Given the description of an element on the screen output the (x, y) to click on. 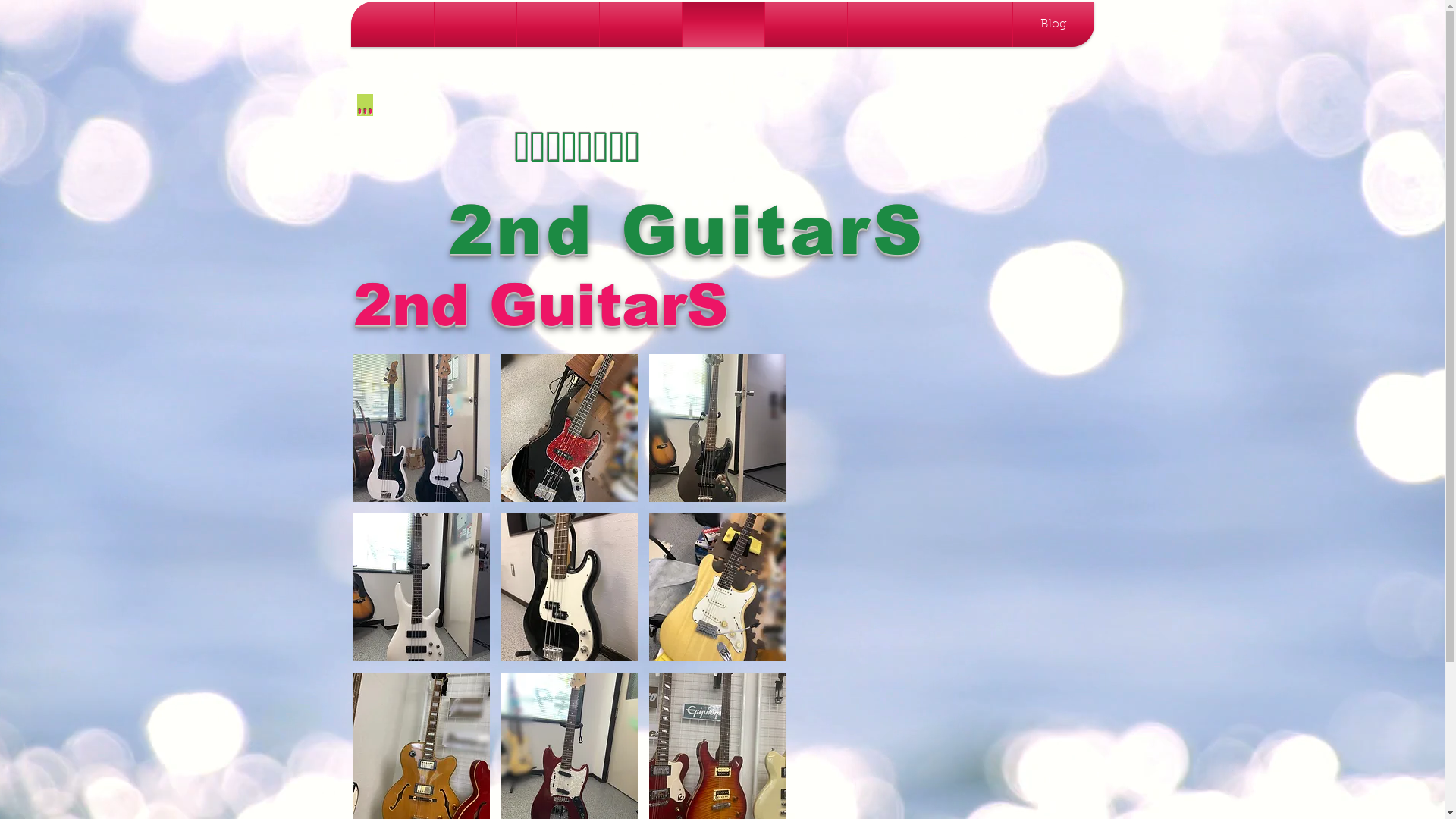
Blog Element type: text (1053, 24)
